Given the description of an element on the screen output the (x, y) to click on. 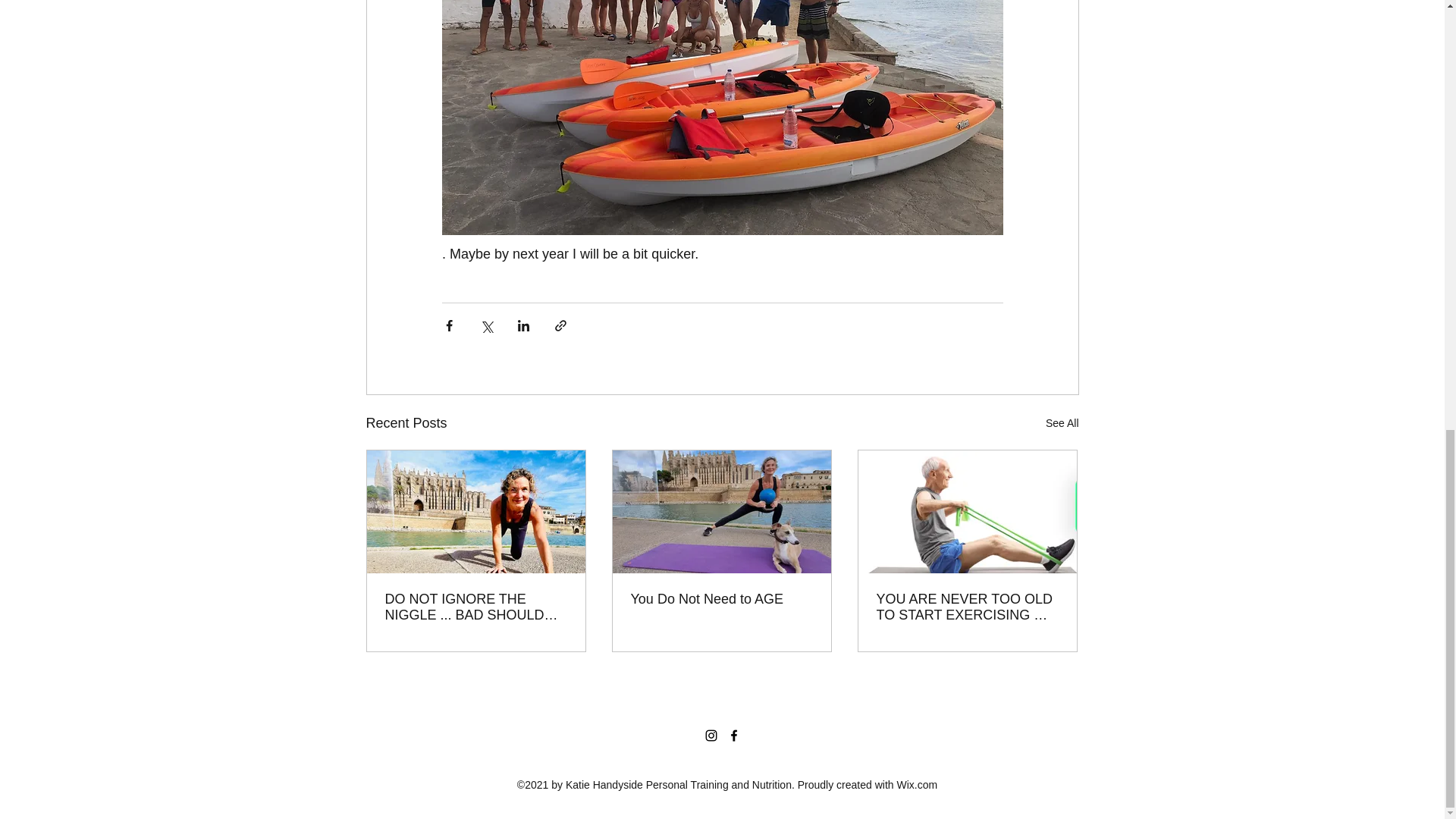
See All (1061, 423)
You Do Not Need to AGE (721, 599)
